Given the description of an element on the screen output the (x, y) to click on. 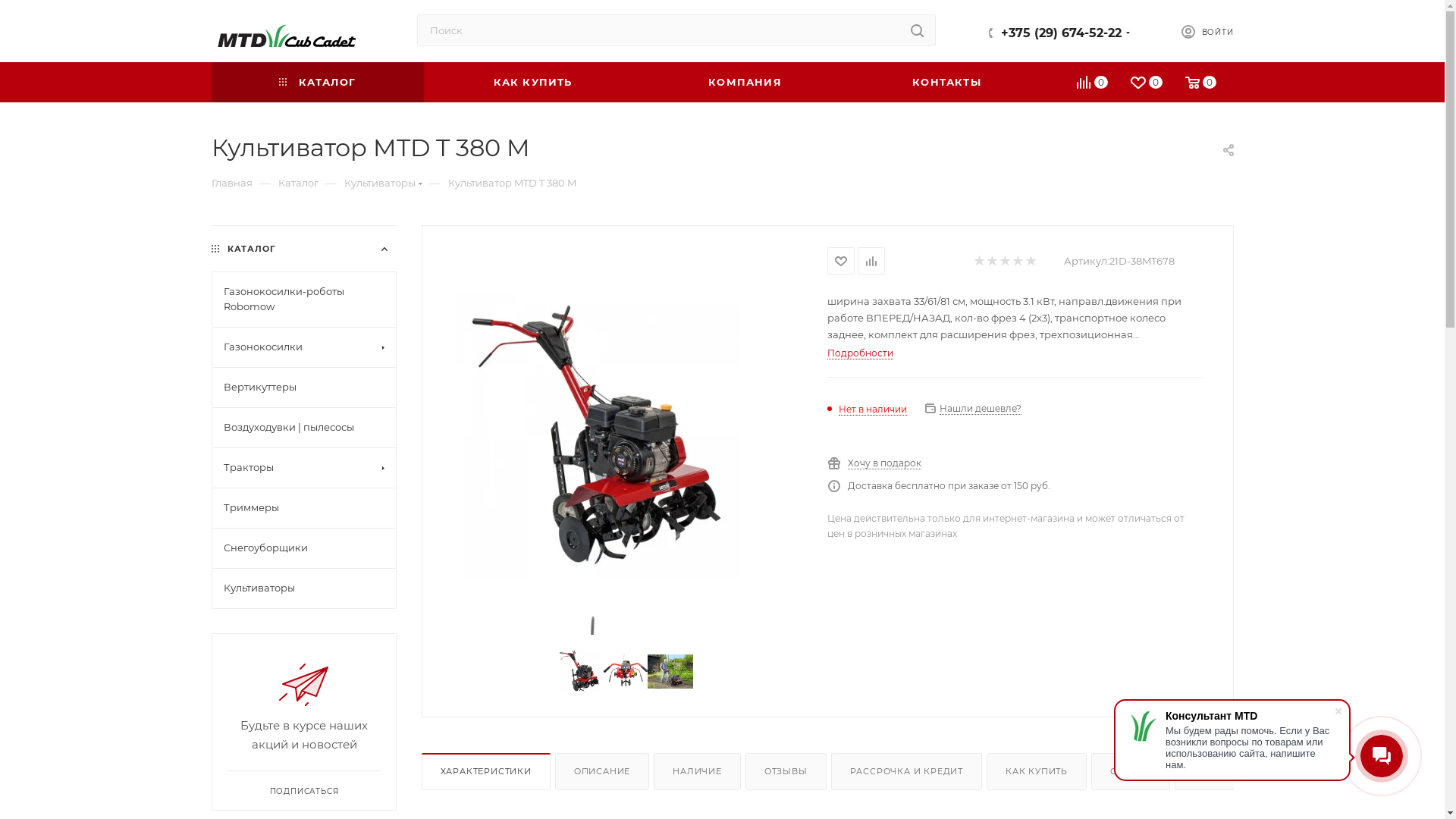
mtd.com.by Element type: hover (282, 31)
0 Element type: text (1146, 84)
0 Element type: text (1200, 84)
+375 (29) 674-52-22 Element type: text (1061, 32)
0 Element type: text (1093, 84)
